Given the description of an element on the screen output the (x, y) to click on. 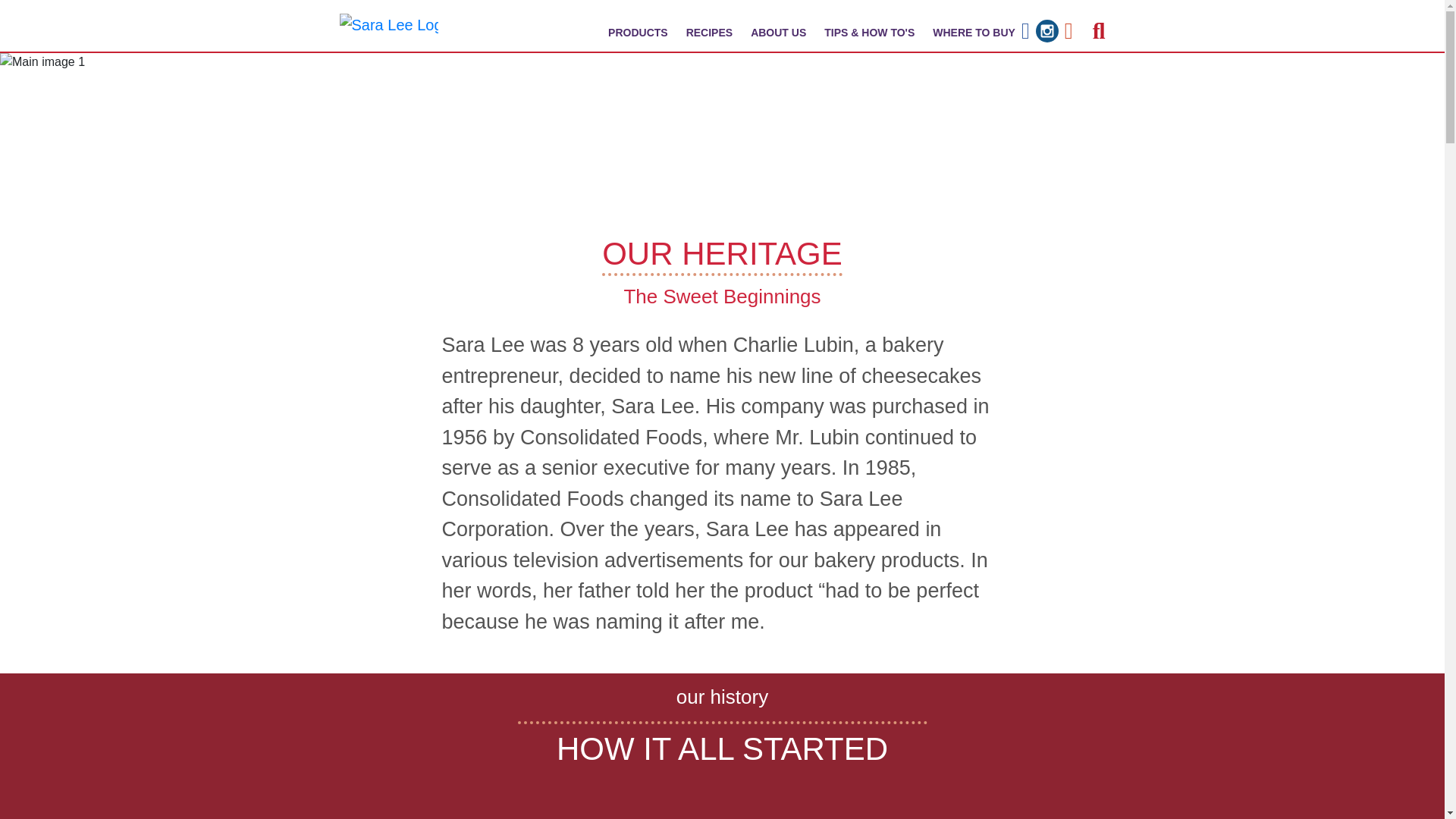
WHERE TO BUY (974, 31)
instagram (1046, 30)
PRODUCTS (638, 31)
pinterest (1068, 30)
facebook (1025, 30)
RECIPES (708, 31)
ABOUT US (778, 31)
